Given the description of an element on the screen output the (x, y) to click on. 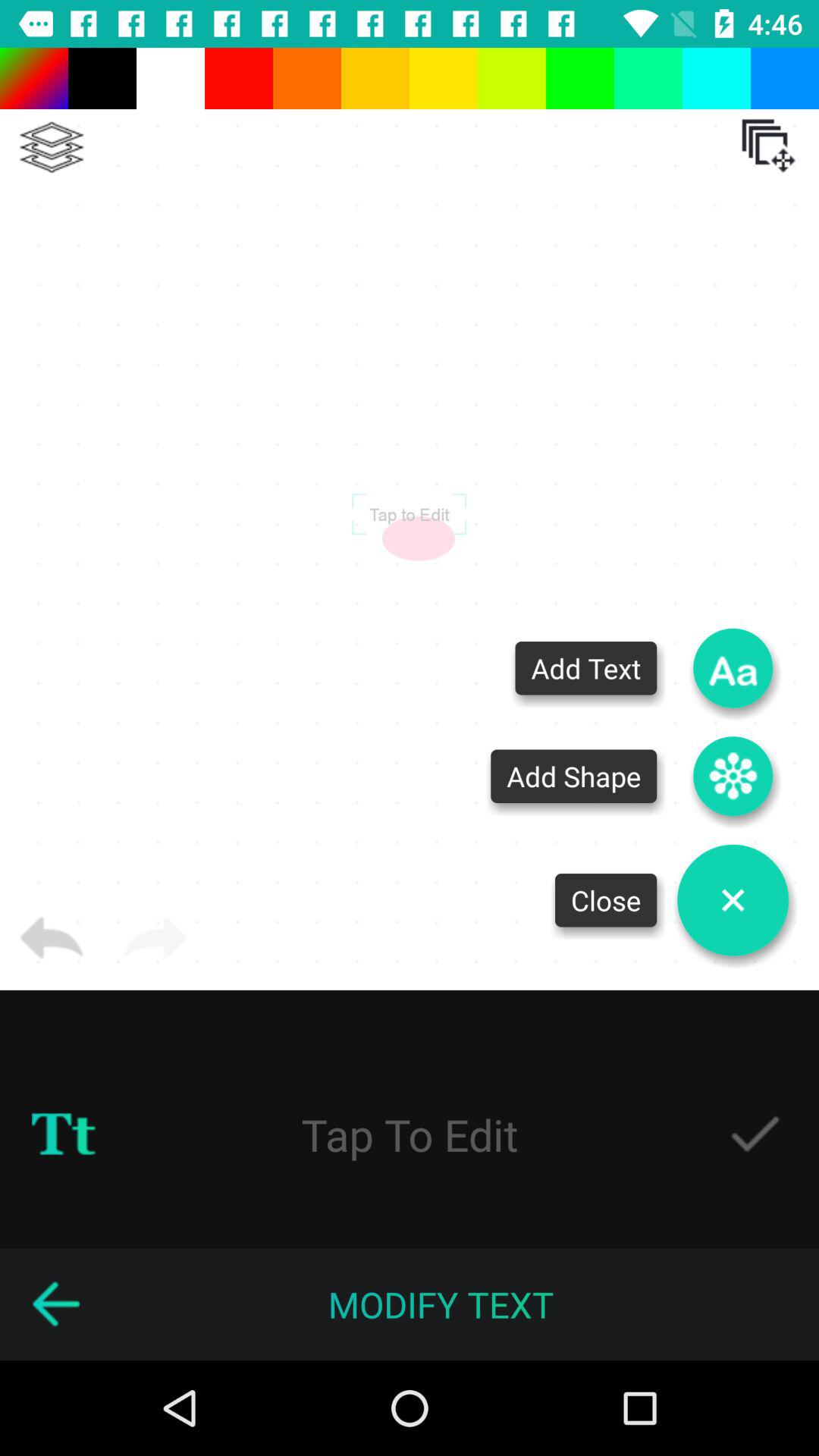
select a layer (51, 147)
